Given the description of an element on the screen output the (x, y) to click on. 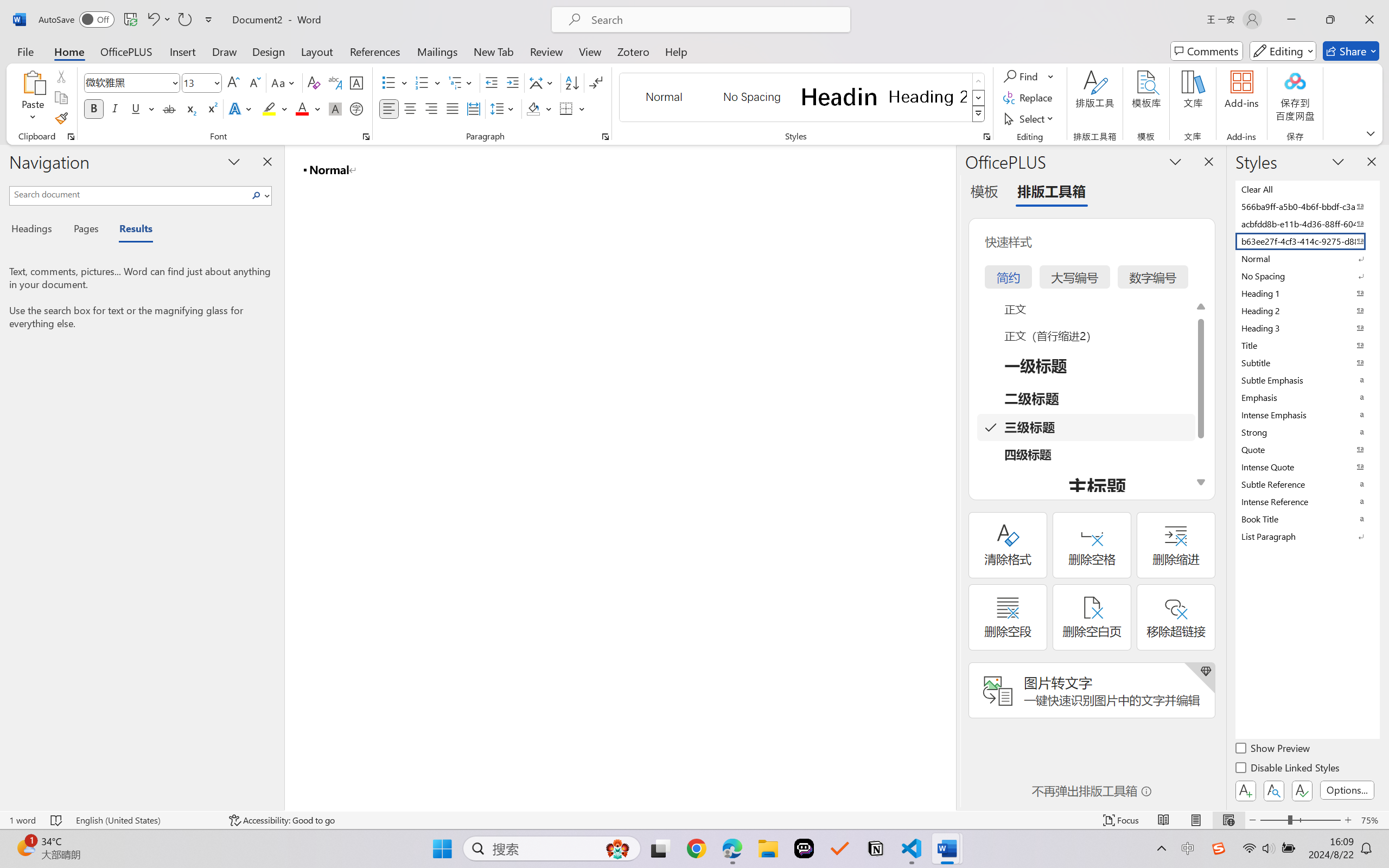
Font (126, 82)
Font Size (201, 82)
Borders (566, 108)
Task Pane Options (1175, 161)
Show/Hide Editing Marks (595, 82)
Repeat Style (184, 19)
Intense Reference (1306, 501)
Title (1306, 345)
Justify (452, 108)
Help (675, 51)
Book Title (1306, 518)
Change Case (284, 82)
